Given the description of an element on the screen output the (x, y) to click on. 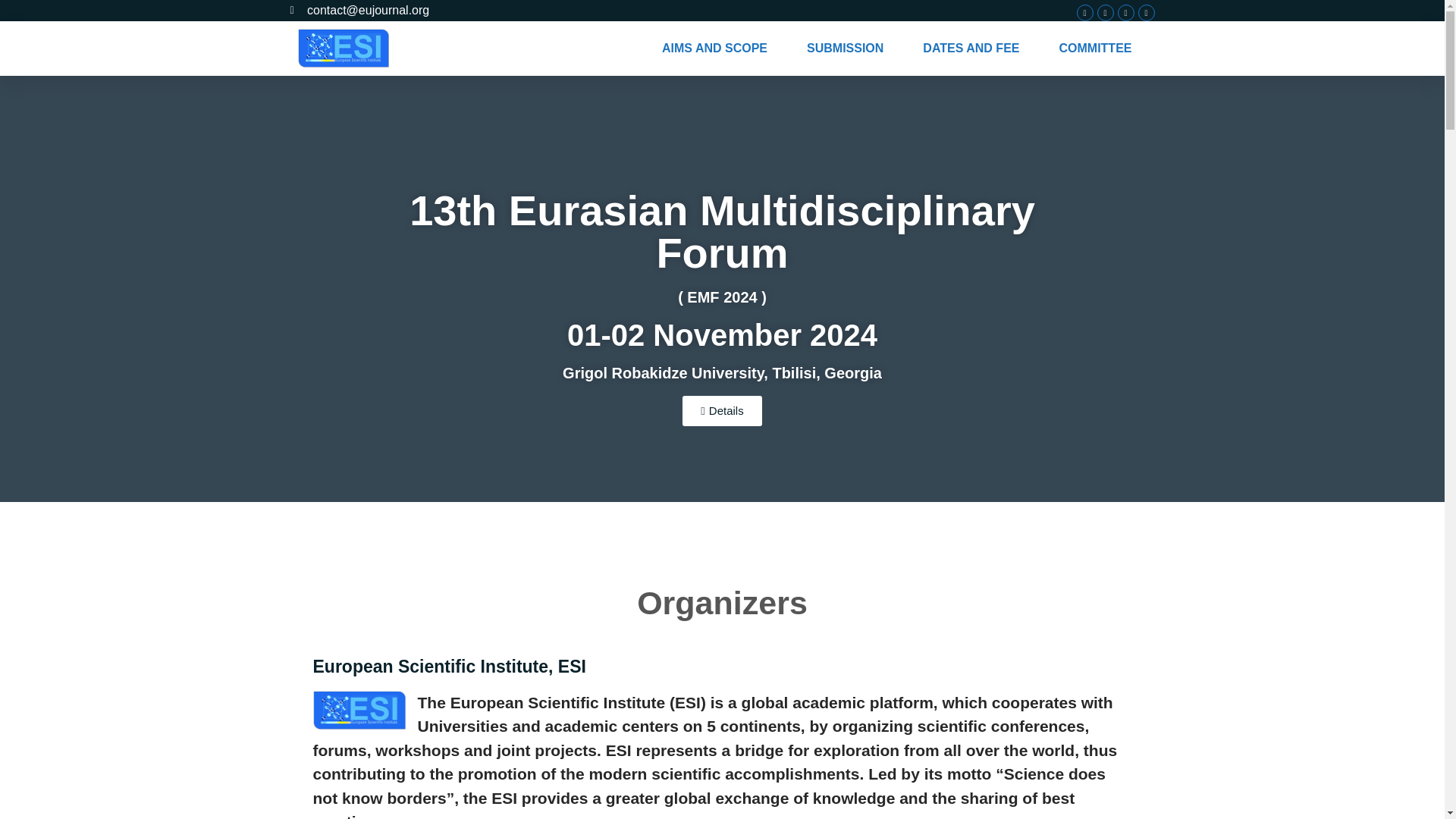
SUBMISSION (845, 48)
DATES AND FEE (970, 48)
Details (721, 410)
European Scientific Institute, ESI (449, 666)
AIMS AND SCOPE (713, 48)
COMMITTEE (1094, 48)
